Given the description of an element on the screen output the (x, y) to click on. 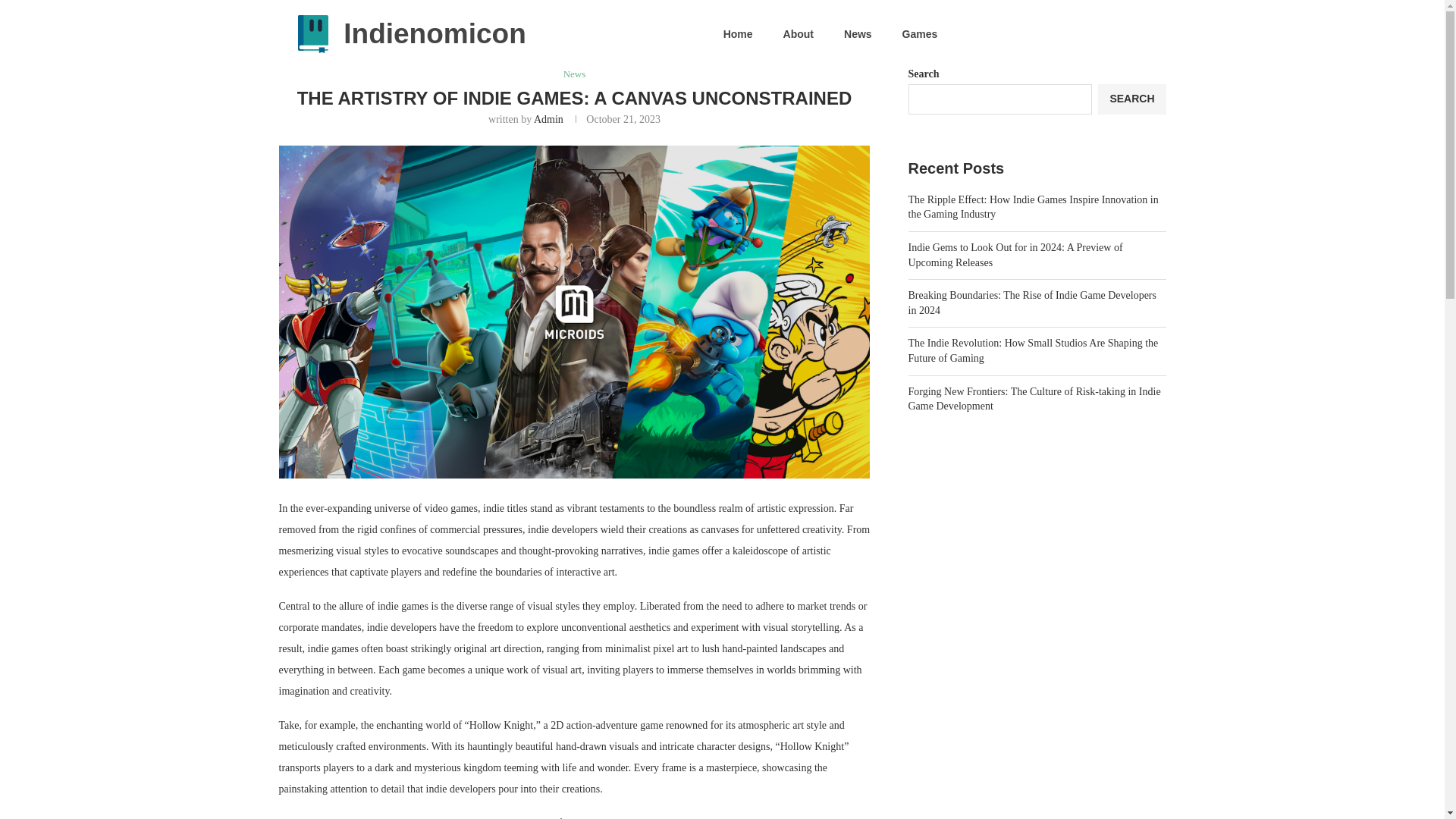
Admin (548, 119)
News (574, 73)
About (798, 33)
Indienomicon (434, 33)
Home (737, 33)
Games (919, 33)
News (857, 33)
